Given the description of an element on the screen output the (x, y) to click on. 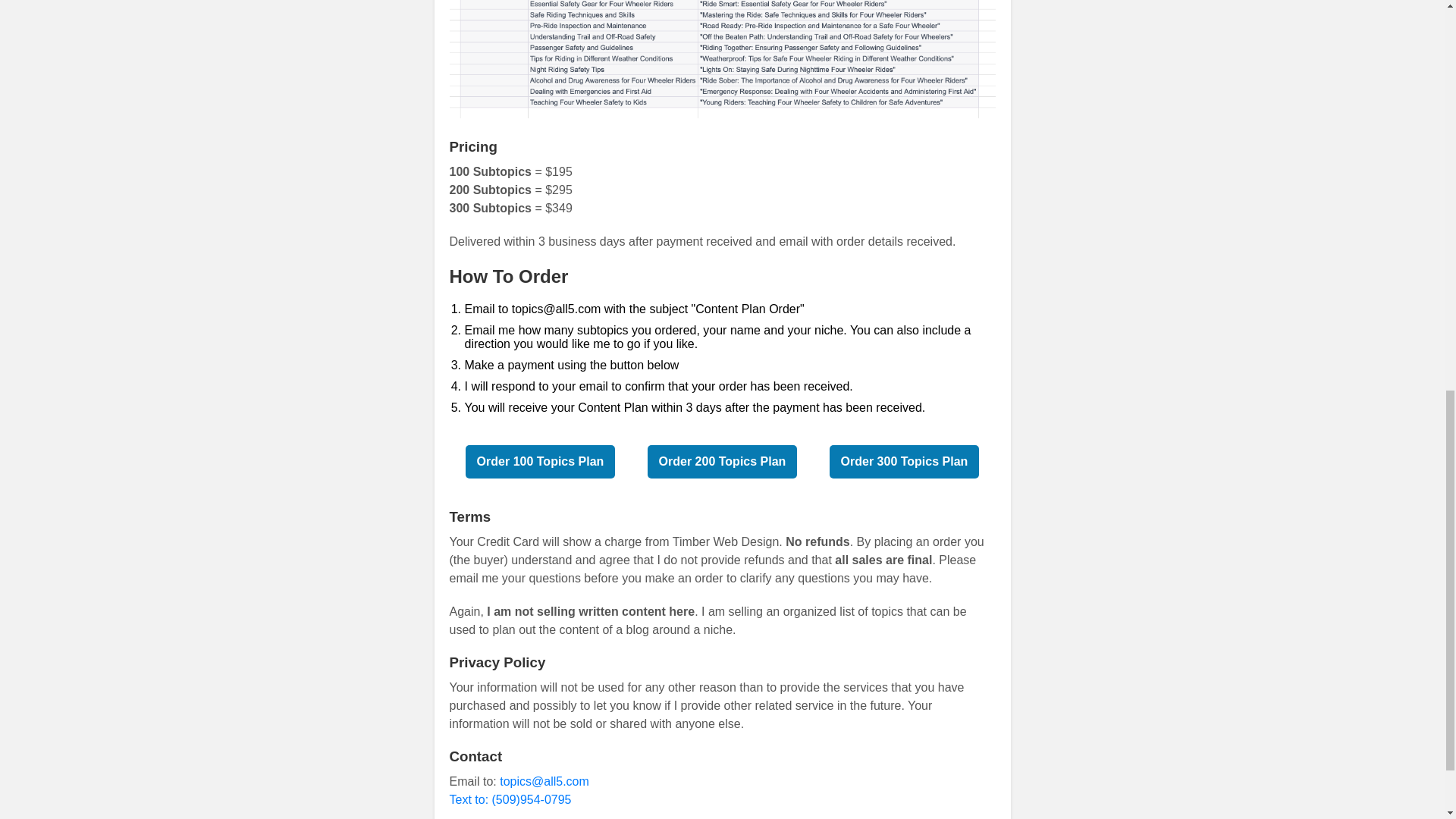
Order 300 Topics Plan (904, 461)
Order 200 Topics Plan (722, 461)
Order 100 Topics Plan (540, 461)
